Given the description of an element on the screen output the (x, y) to click on. 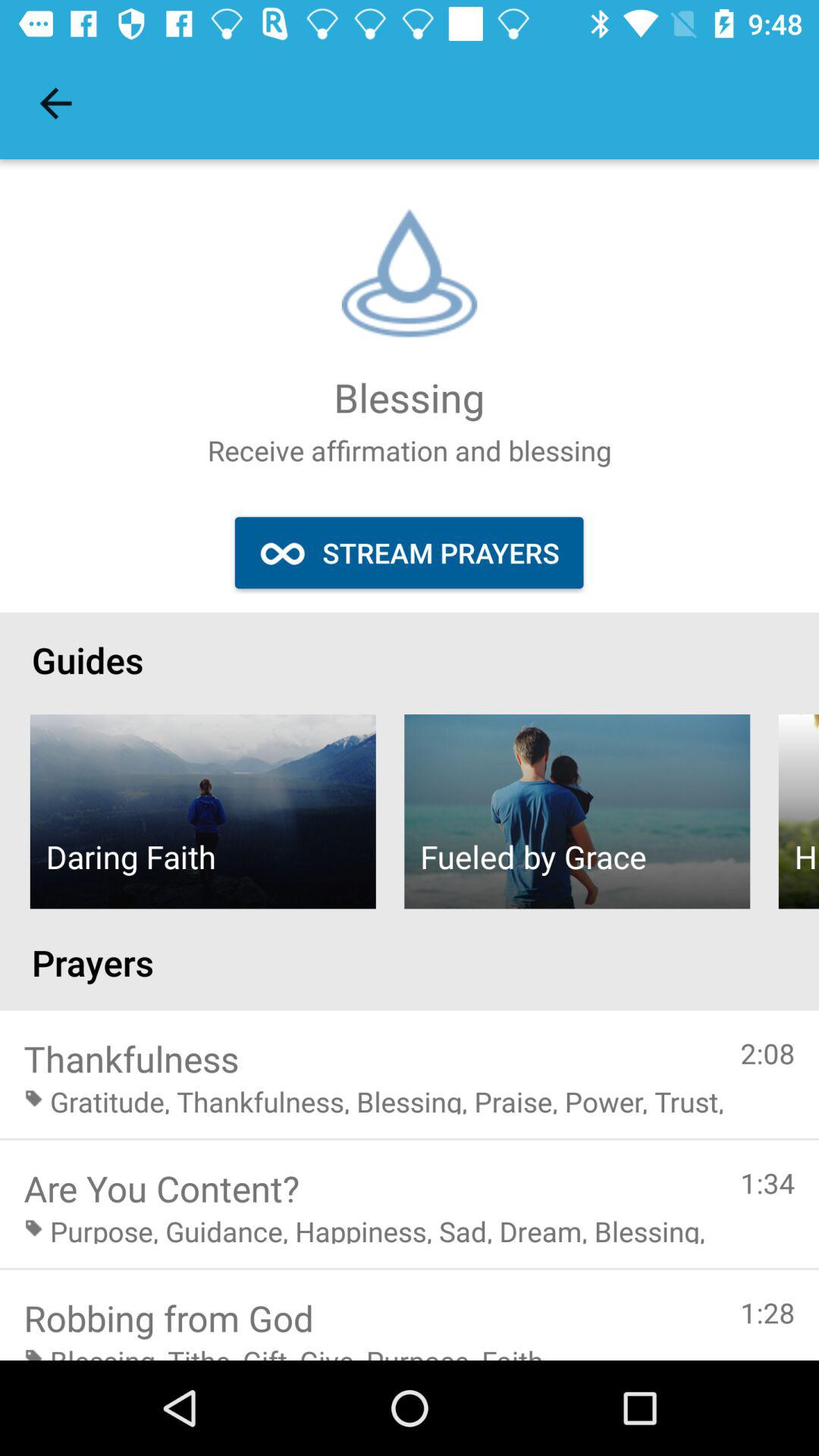
choose the item above the guides item (55, 103)
